Given the description of an element on the screen output the (x, y) to click on. 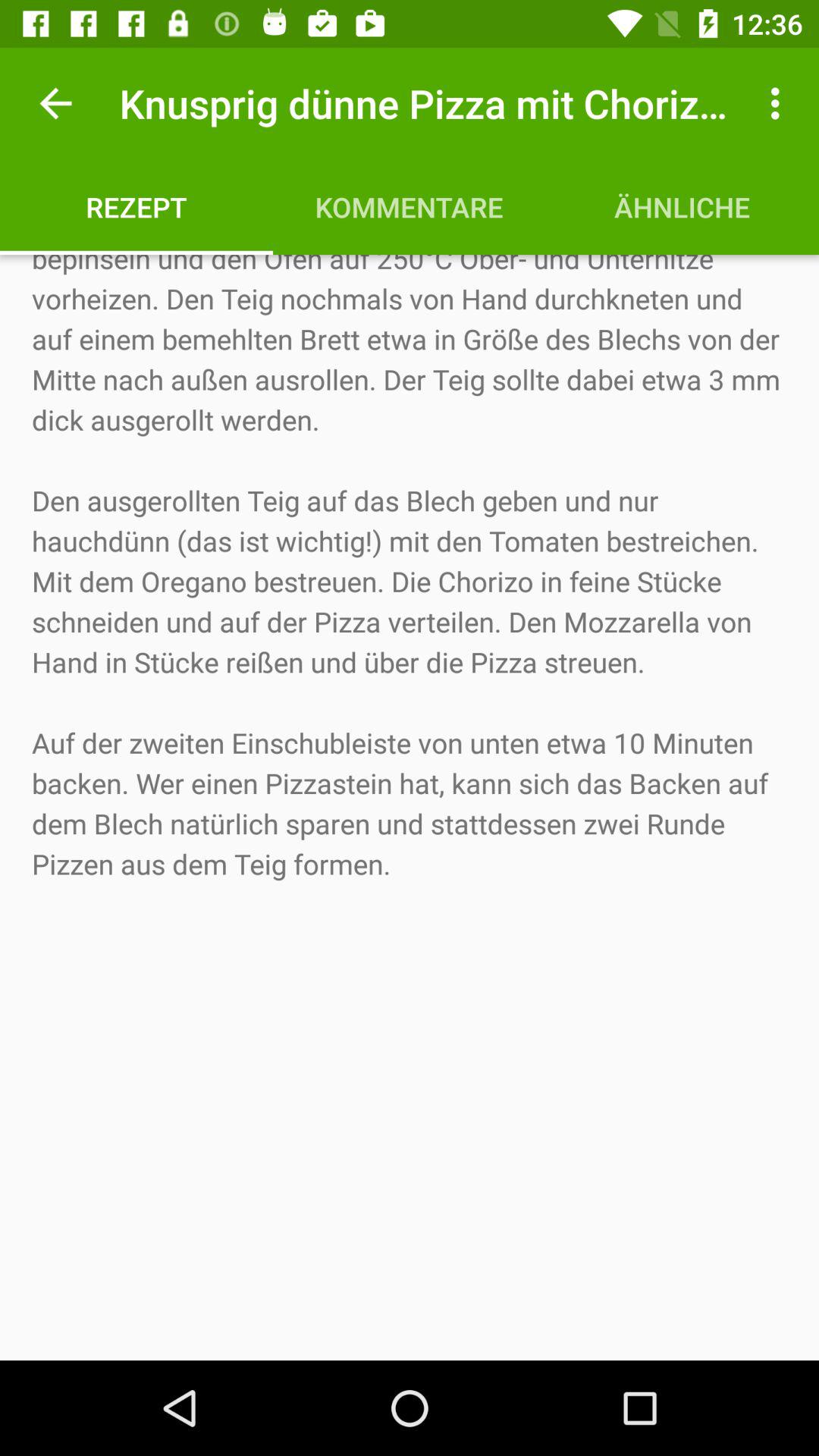
launch the icon above rezept (55, 103)
